Given the description of an element on the screen output the (x, y) to click on. 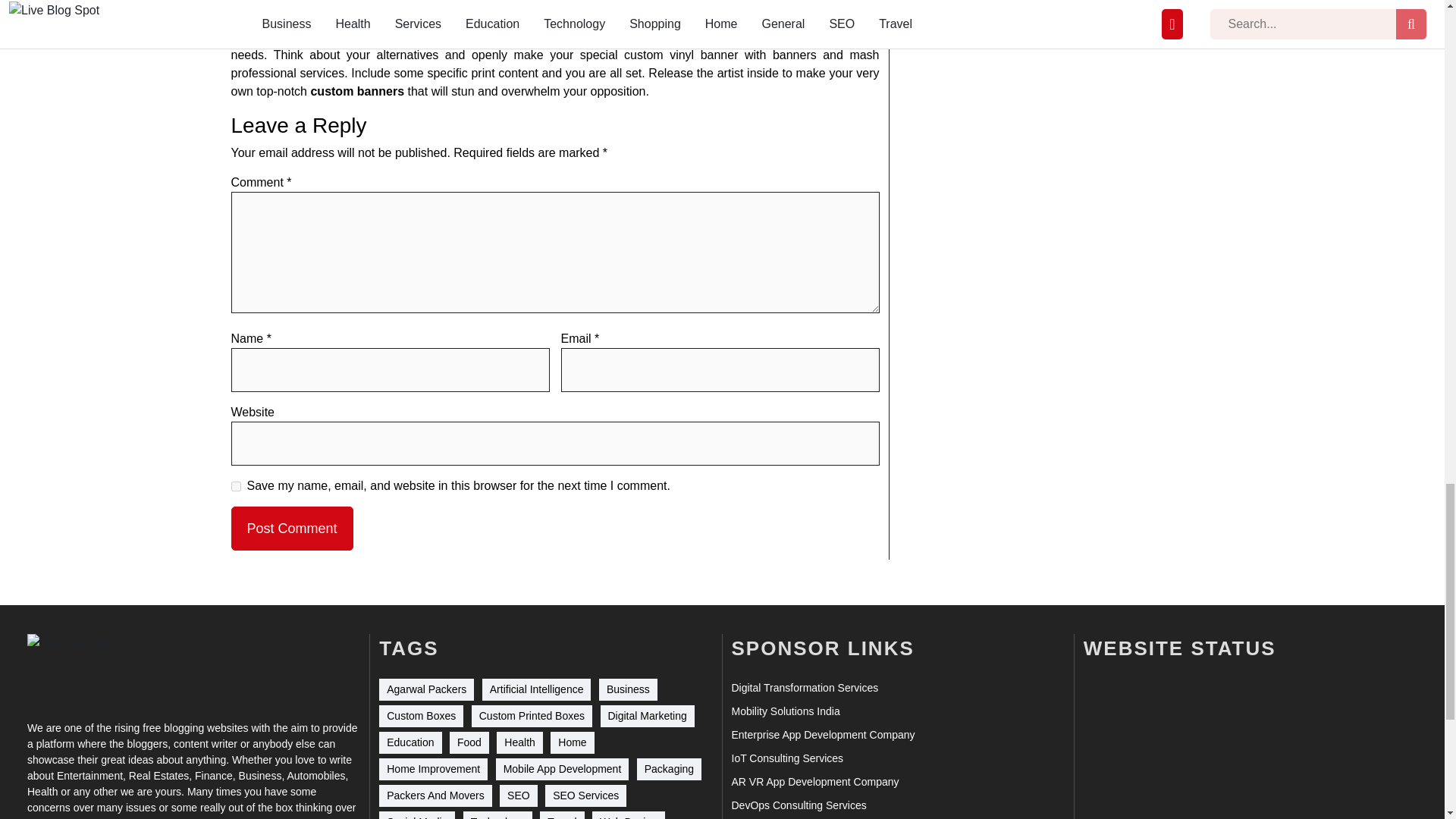
Post Comment (291, 528)
Enterprise App Development Company (822, 734)
Mobility Solutions India (785, 711)
Live Blog Spot (81, 667)
AR VR App Development Company (814, 781)
Digital Transformation Services (803, 688)
IoT Consulting Services (786, 758)
Post Comment (291, 528)
yes (235, 486)
